Given the description of an element on the screen output the (x, y) to click on. 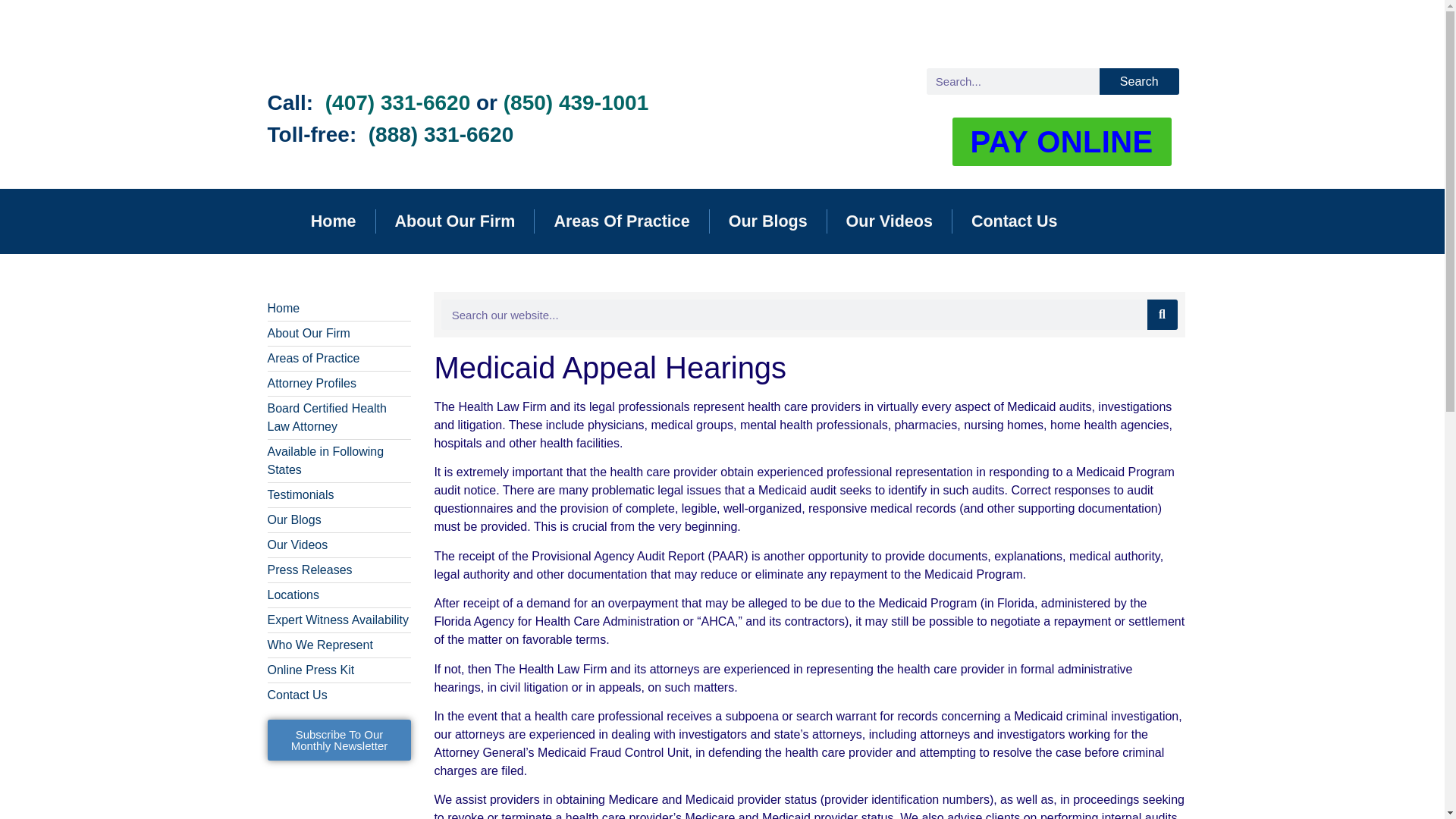
Areas of Practice (338, 358)
Search (1139, 81)
Board Certified Health Law Attorney (338, 417)
PAY ONLINE (1062, 141)
About Our Firm (454, 221)
Home (333, 221)
Areas Of Practice (620, 221)
Our Videos (889, 221)
About Our Firm (338, 333)
Attorney Profiles (338, 383)
Home (338, 308)
Contact Us (1013, 221)
Our Blogs (768, 221)
